Given the description of an element on the screen output the (x, y) to click on. 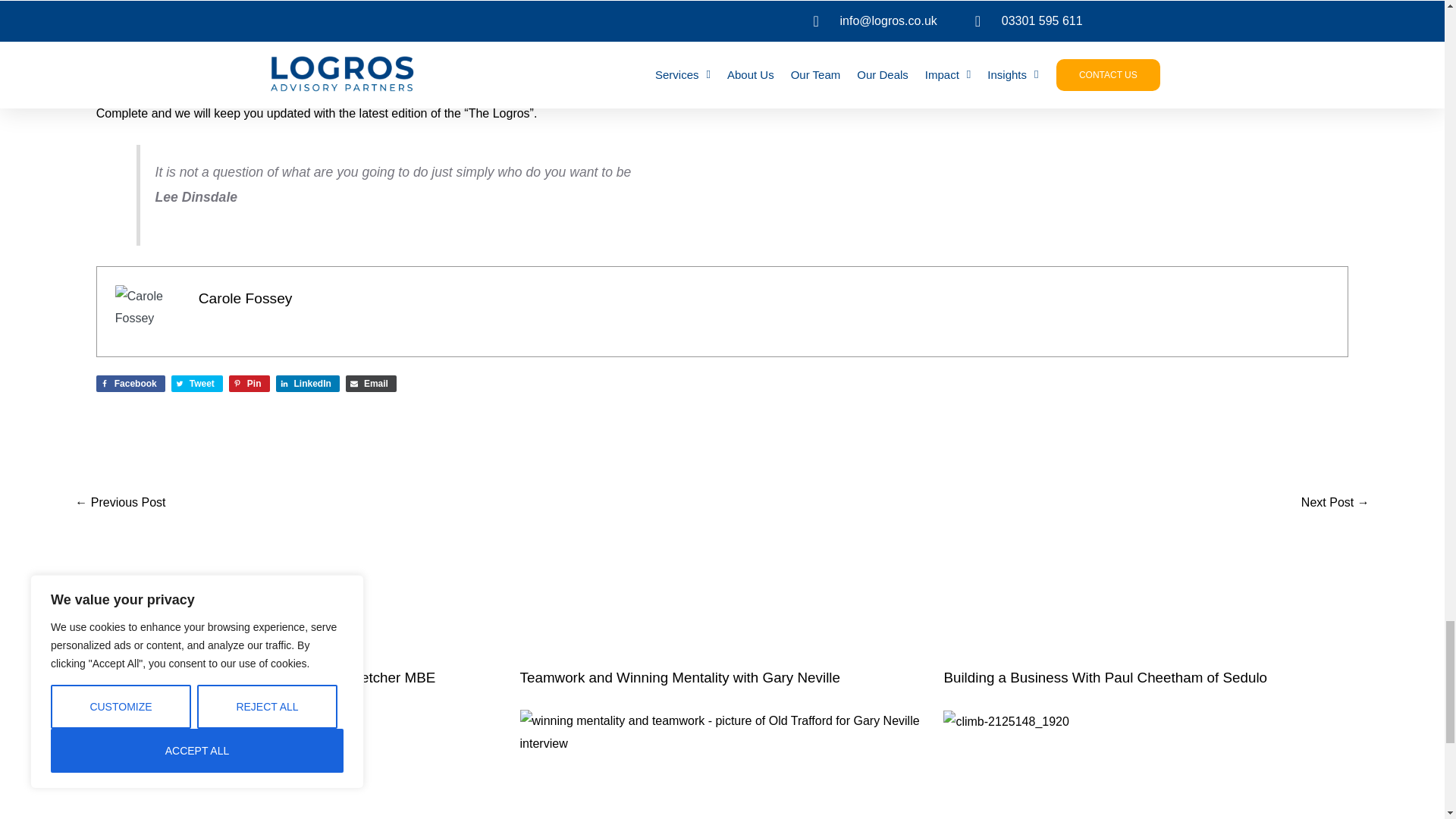
Share on LinkedIn (307, 383)
Share on Twitter (196, 383)
Email (371, 383)
Share on Facebook (130, 383)
Carole Fossey (245, 298)
Share via Email (371, 383)
Share on Pinterest (248, 383)
